Given the description of an element on the screen output the (x, y) to click on. 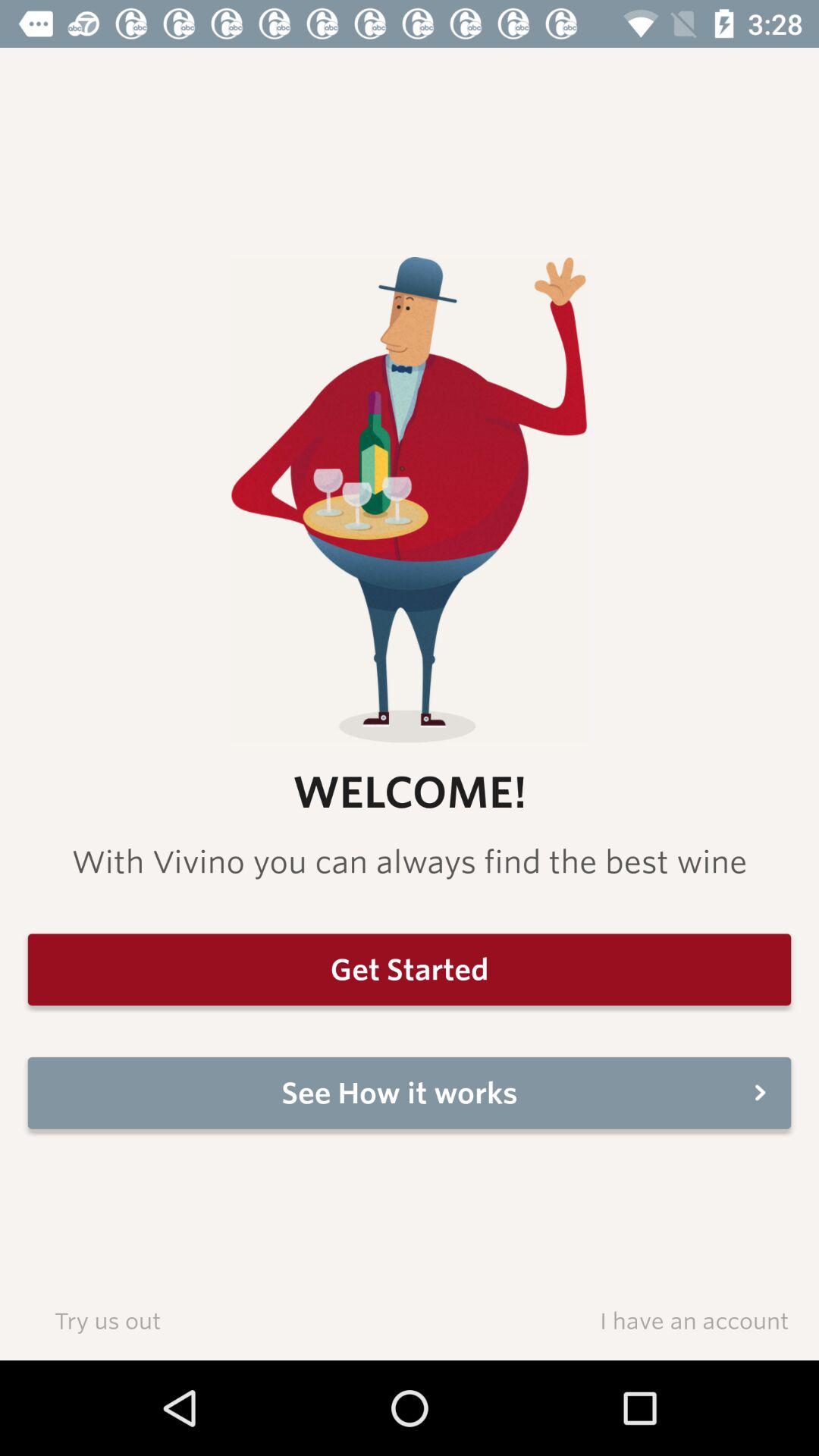
press icon below see how it (107, 1320)
